Given the description of an element on the screen output the (x, y) to click on. 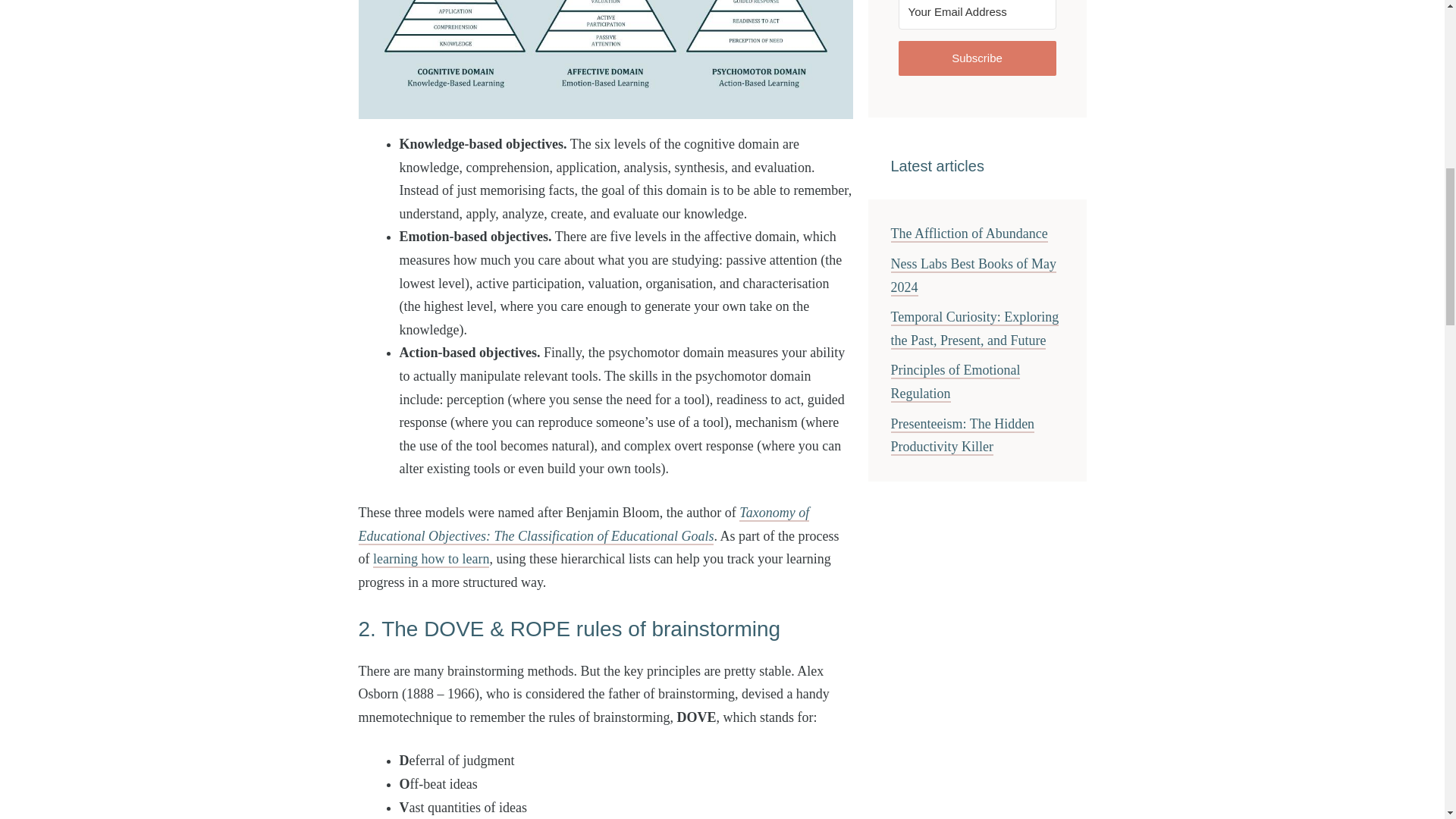
Principles of Emotional Regulation (954, 382)
The Affliction of Abundance (967, 234)
Presenteeism: The Hidden Productivity Killer (961, 436)
learning how to learn (430, 559)
Temporal Curiosity: Exploring the Past, Present, and Future (973, 329)
Ness Labs Best Books of May 2024 (973, 276)
Subscribe (976, 58)
Scroll back to top (1406, 719)
